Given the description of an element on the screen output the (x, y) to click on. 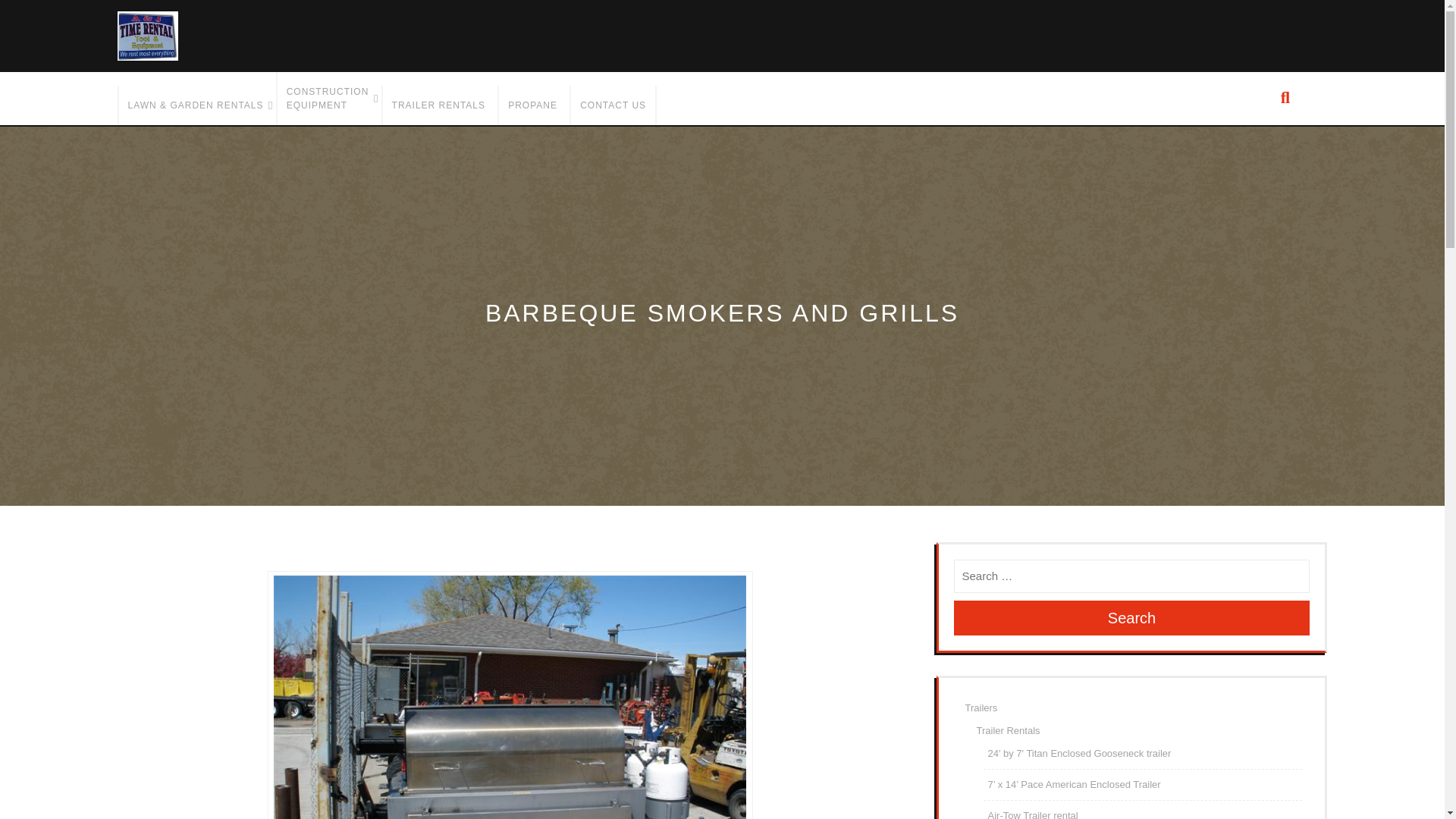
Search (1131, 617)
Trailer Rentals (437, 105)
Trailers (980, 707)
Barbewue Smokers and Grills (509, 697)
Trailer Rentals (1008, 730)
PROPANE (532, 105)
Air-Tow Trailer rental (1032, 814)
Construction Equipment Rental (327, 98)
TRAILER RENTALS (437, 105)
